Given the description of an element on the screen output the (x, y) to click on. 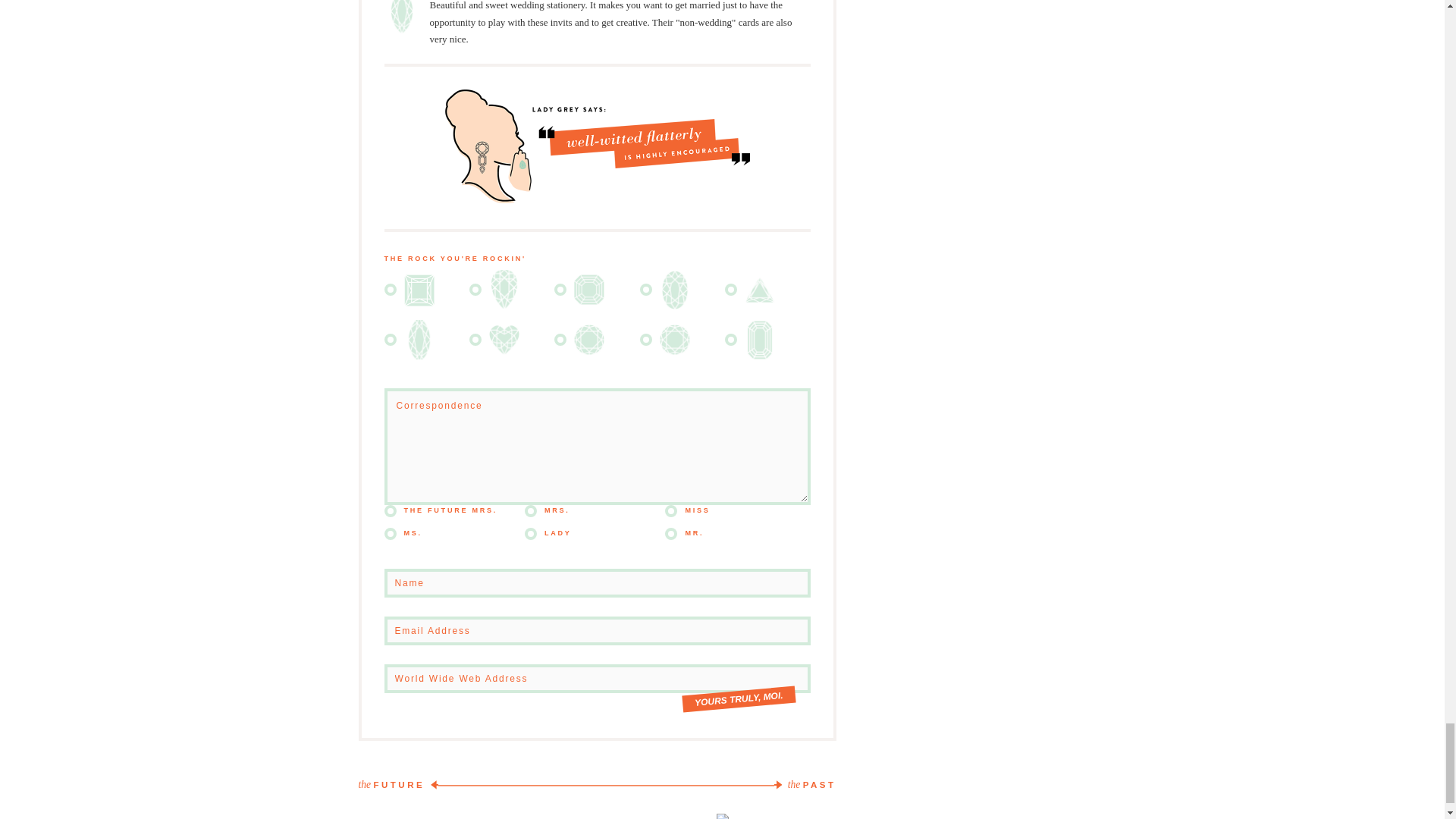
Yours truly, Moi. (737, 694)
